Given the description of an element on the screen output the (x, y) to click on. 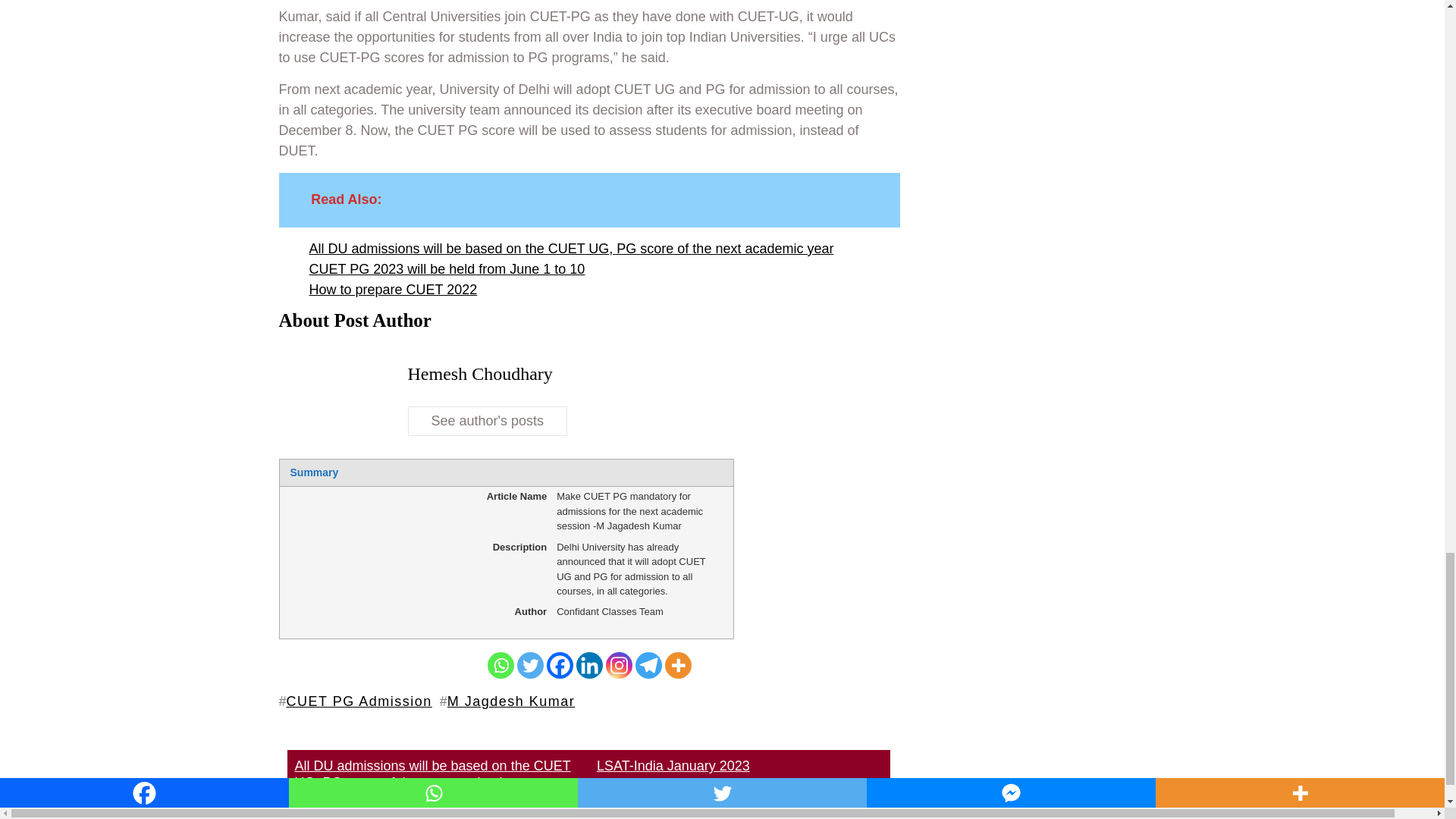
Instagram (618, 664)
Telegram (648, 664)
CUET PG Admission (359, 701)
Twitter (529, 664)
Whatsapp (499, 664)
See author's posts (487, 420)
More (676, 664)
Facebook (559, 664)
Linkedin (589, 664)
CUET PG 2023 will be held from June 1 to 10 (446, 269)
How to prepare CUET 2022 (392, 289)
Hemesh Choudhary (480, 372)
